Given the description of an element on the screen output the (x, y) to click on. 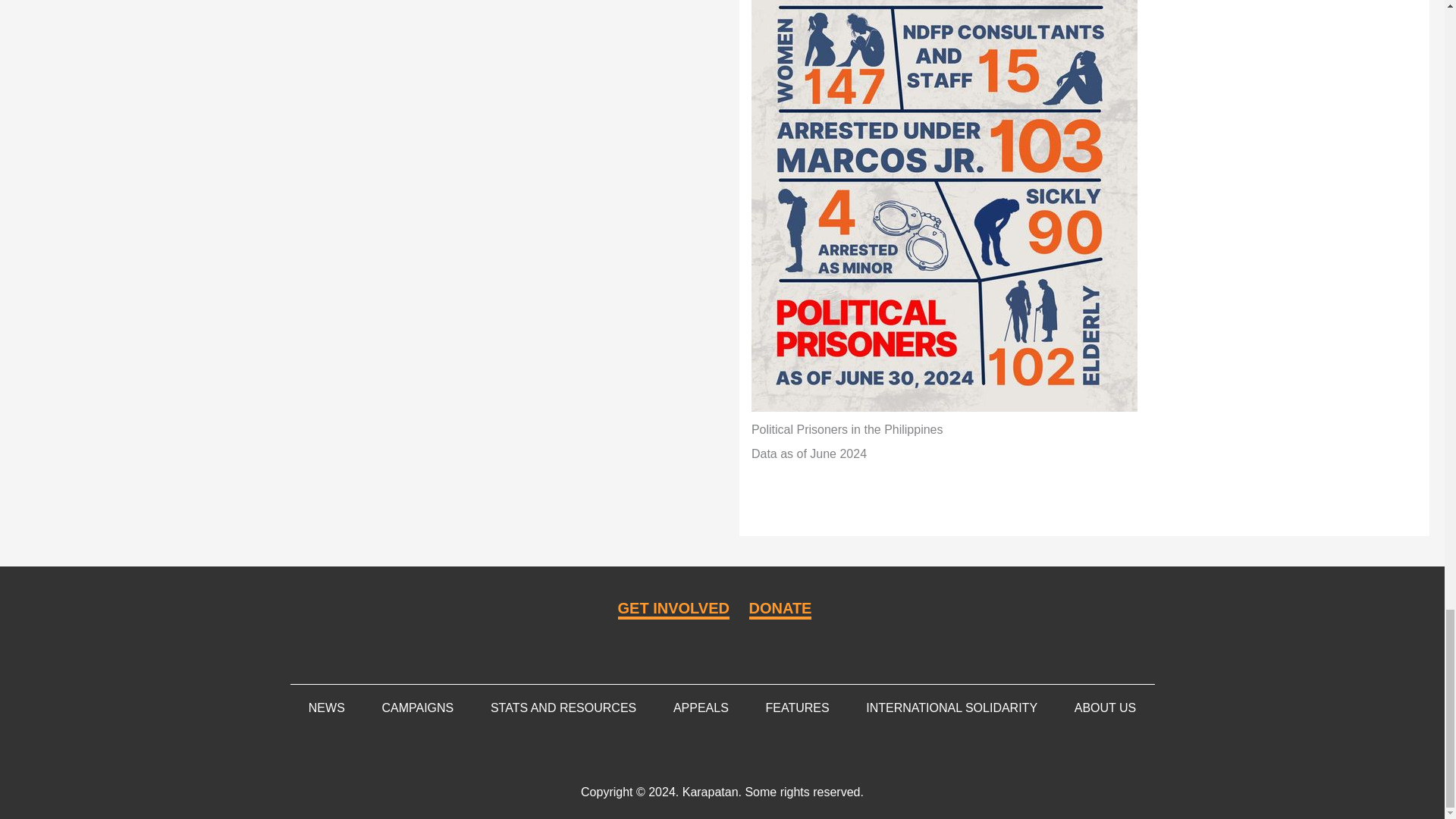
INTERNATIONAL SOLIDARITY (951, 708)
FEATURES (796, 708)
ABOUT US (1104, 708)
APPEALS (701, 708)
DONATE (780, 609)
GET INVOLVED (673, 609)
STATS AND RESOURCES (563, 708)
NEWS (325, 708)
CAMPAIGNS (416, 708)
